Given the description of an element on the screen output the (x, y) to click on. 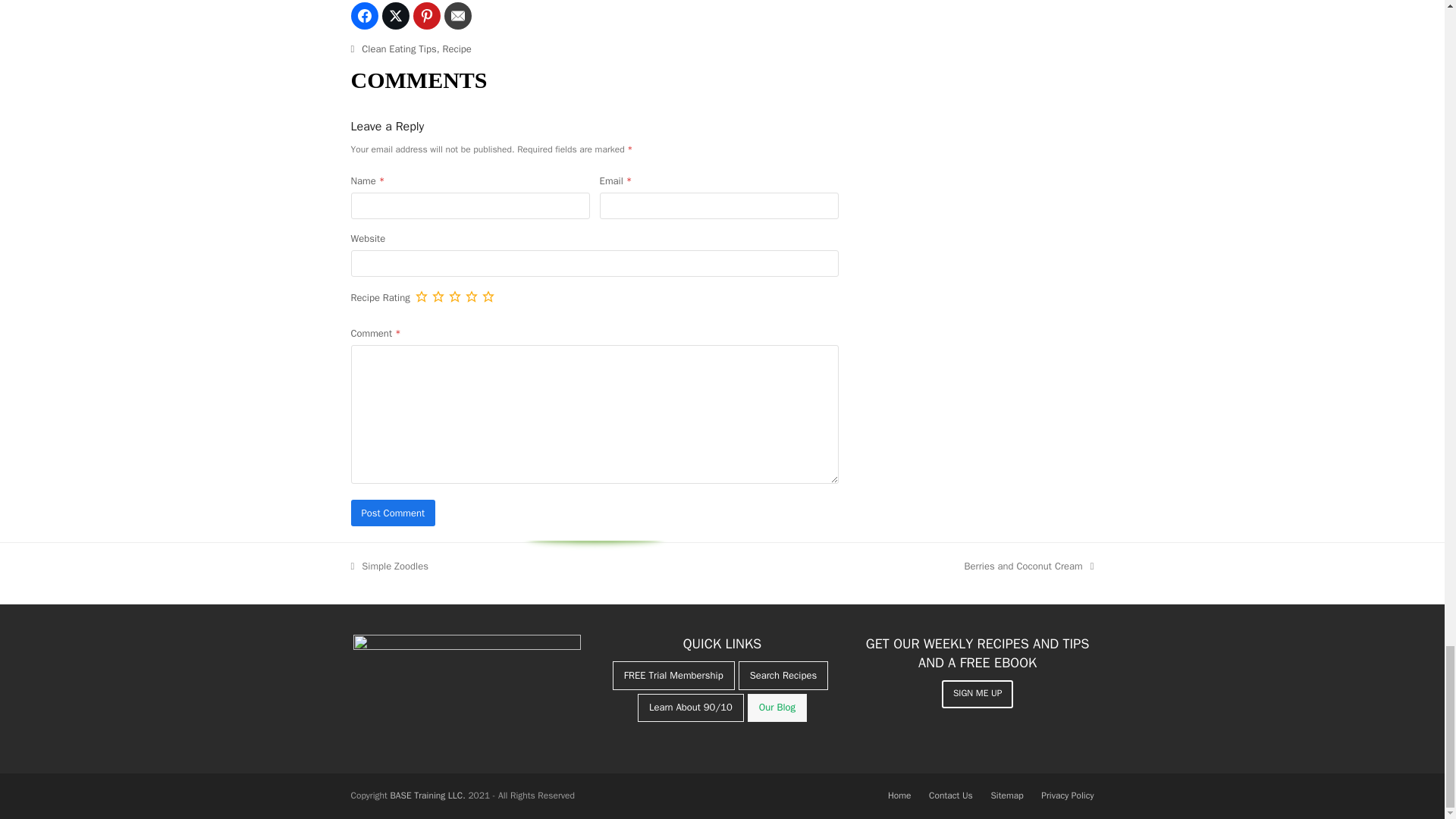
Post Comment (392, 512)
Share on Pinterest (425, 15)
Share on Twitter (395, 15)
Share on Facebook (363, 15)
